Given the description of an element on the screen output the (x, y) to click on. 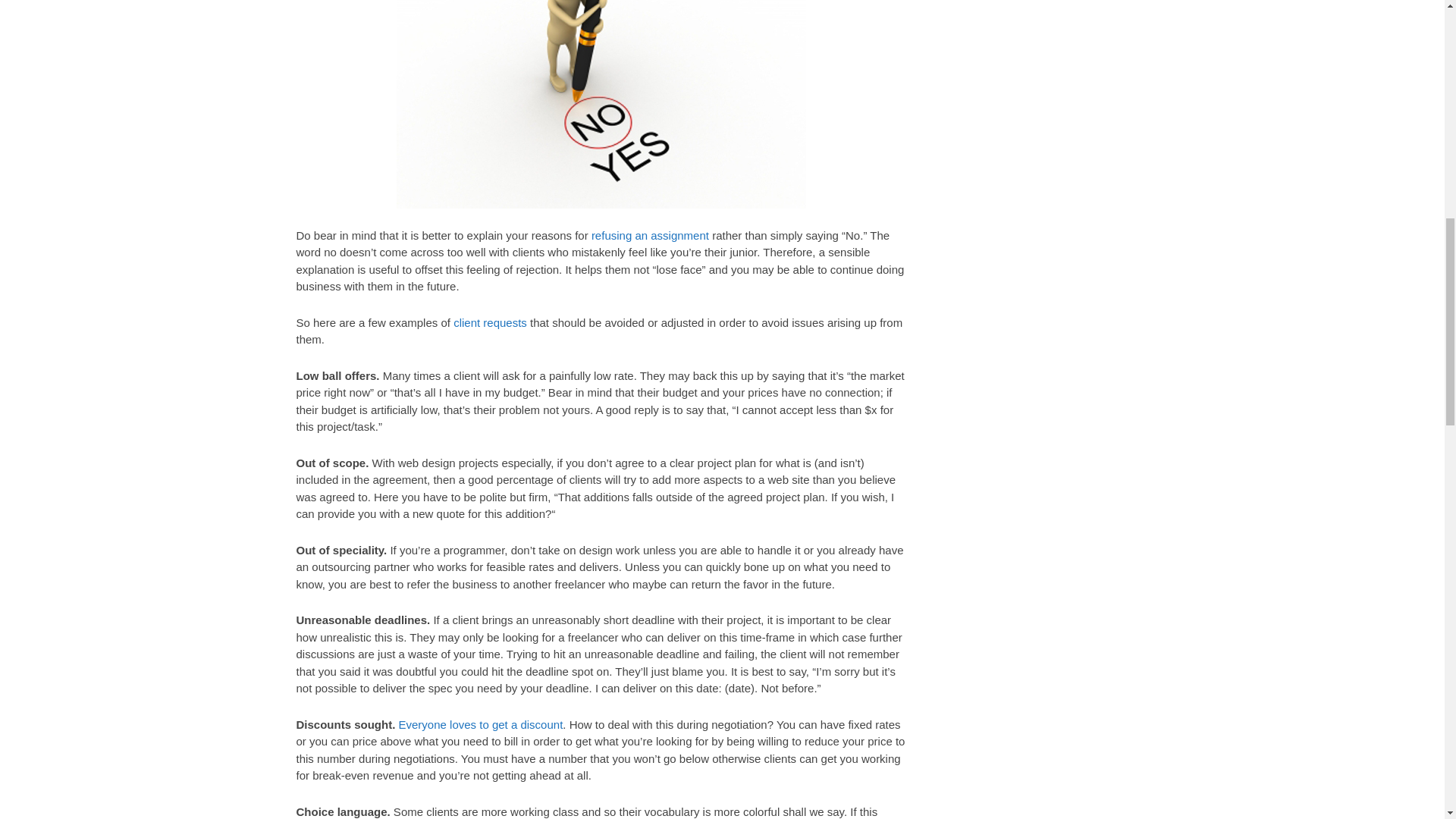
Everyone loves to get a discount (480, 724)
refusing an assignment (650, 235)
client requests (489, 322)
